Given the description of an element on the screen output the (x, y) to click on. 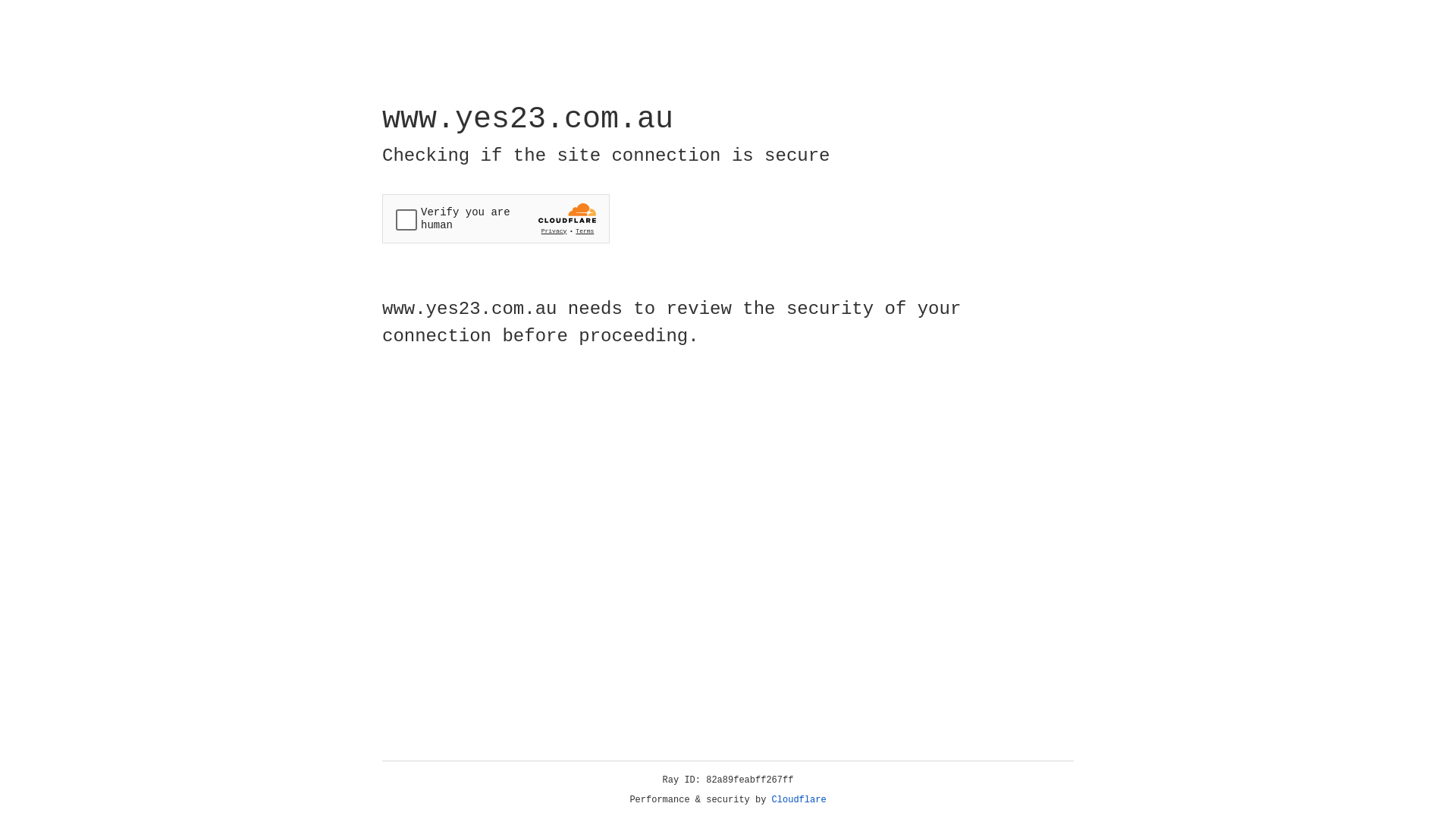
Cloudflare Element type: text (798, 799)
Widget containing a Cloudflare security challenge Element type: hover (495, 218)
